Given the description of an element on the screen output the (x, y) to click on. 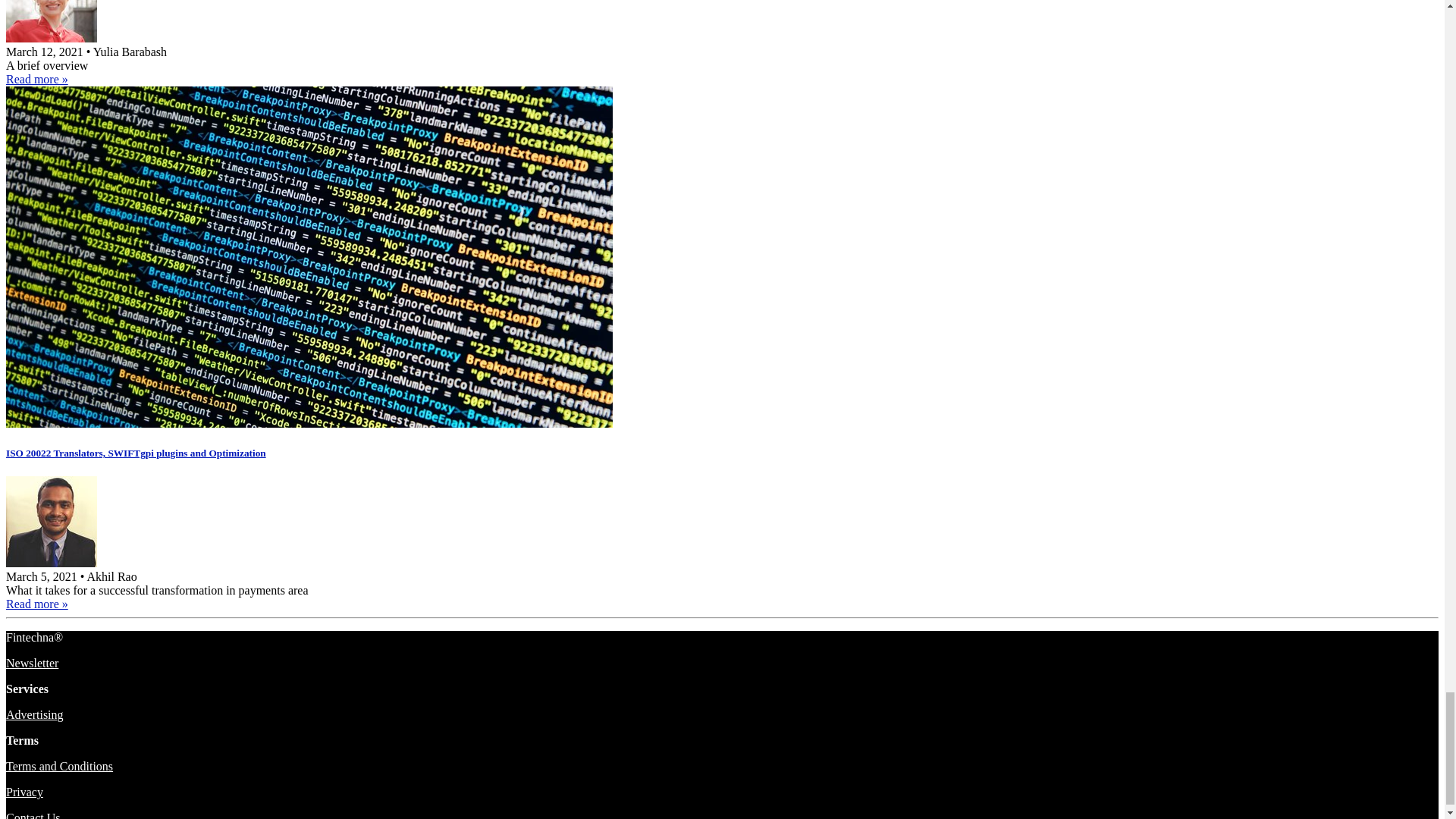
Yulia Barabash (51, 38)
Hot Market: Why Latin America? And Why Now? (36, 78)
